Given the description of an element on the screen output the (x, y) to click on. 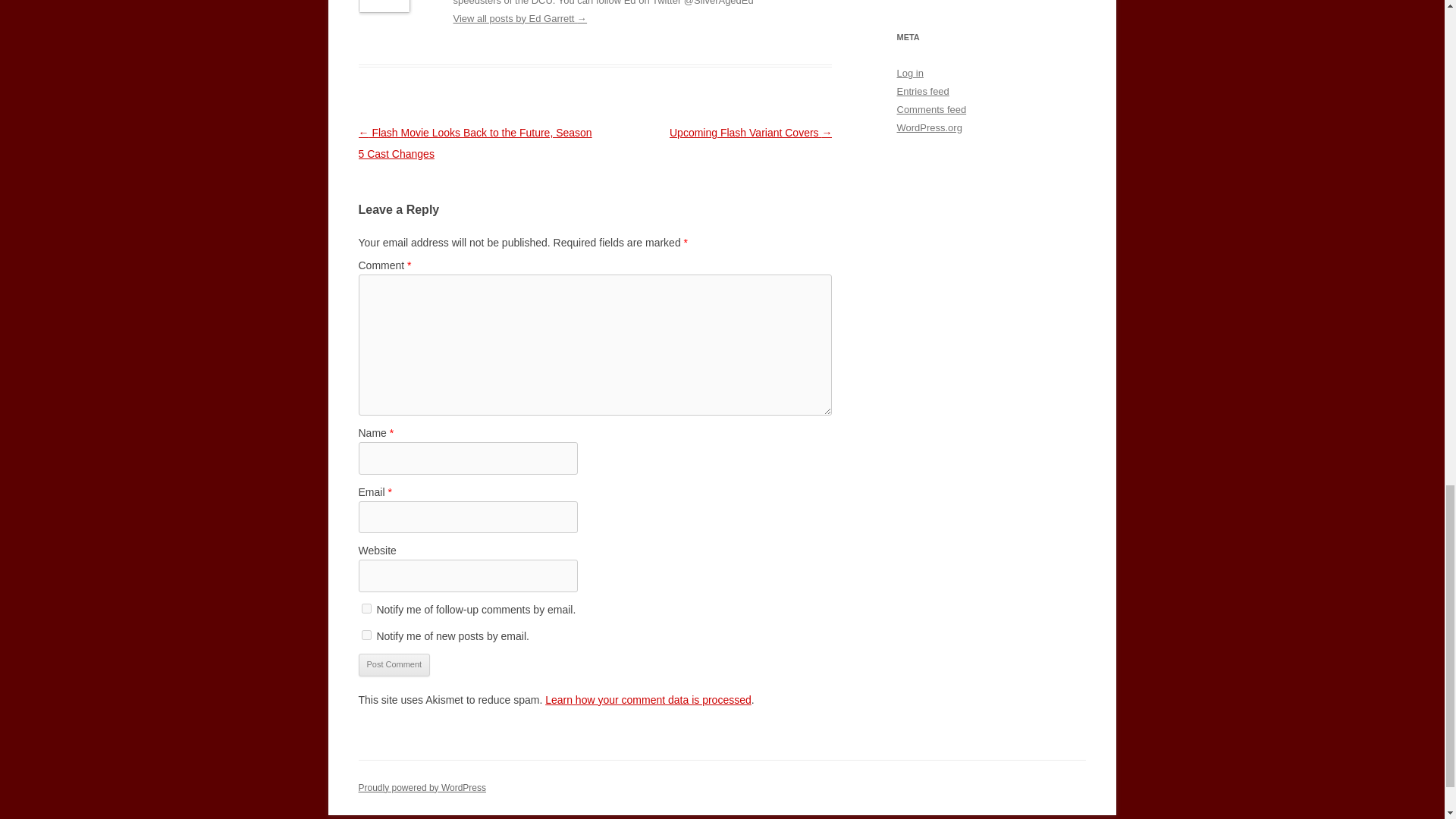
Learn how your comment data is processed (647, 699)
Post Comment (393, 664)
Post Comment (393, 664)
subscribe (366, 608)
subscribe (366, 634)
